Given the description of an element on the screen output the (x, y) to click on. 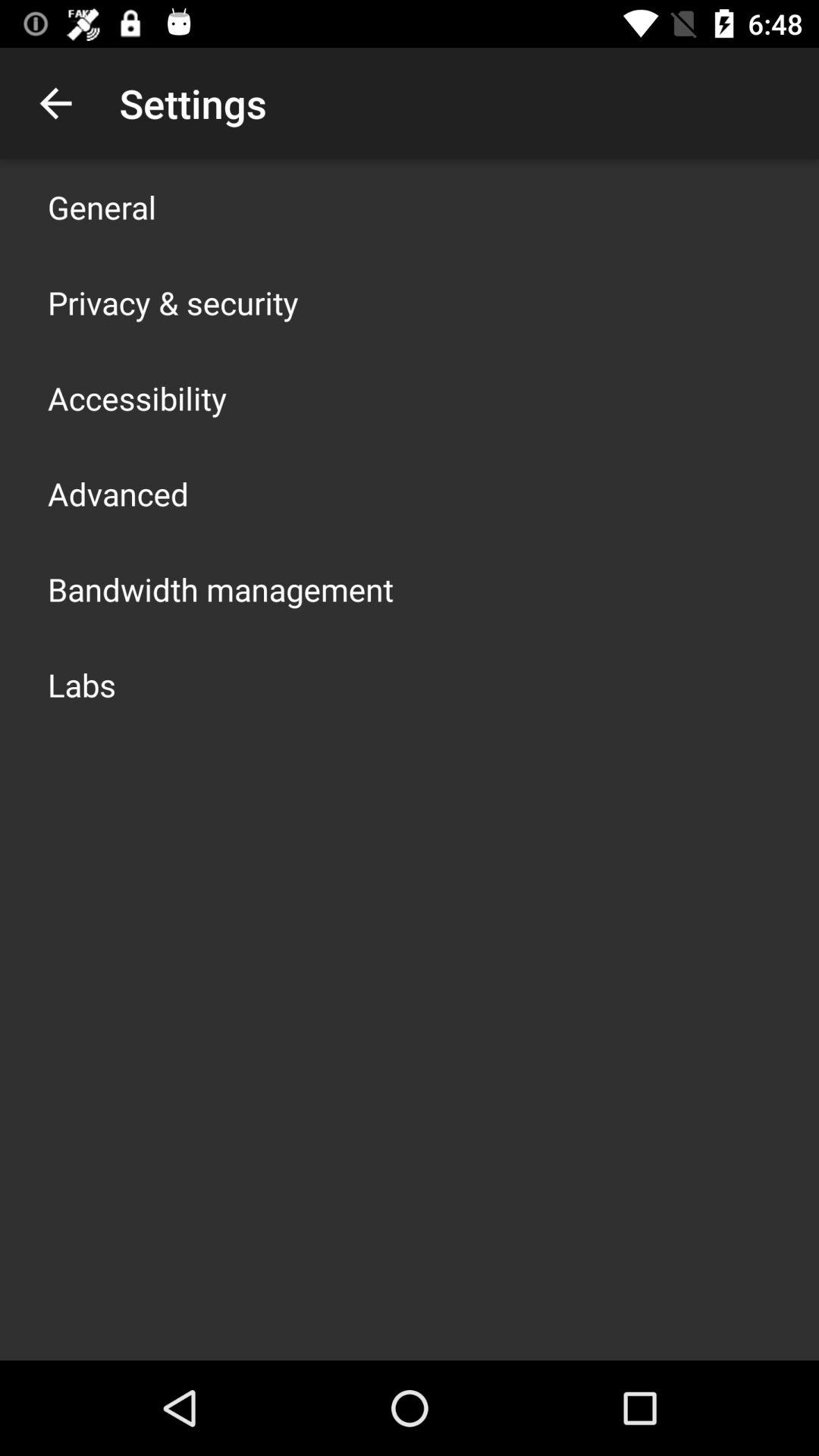
click the app above general item (55, 103)
